Given the description of an element on the screen output the (x, y) to click on. 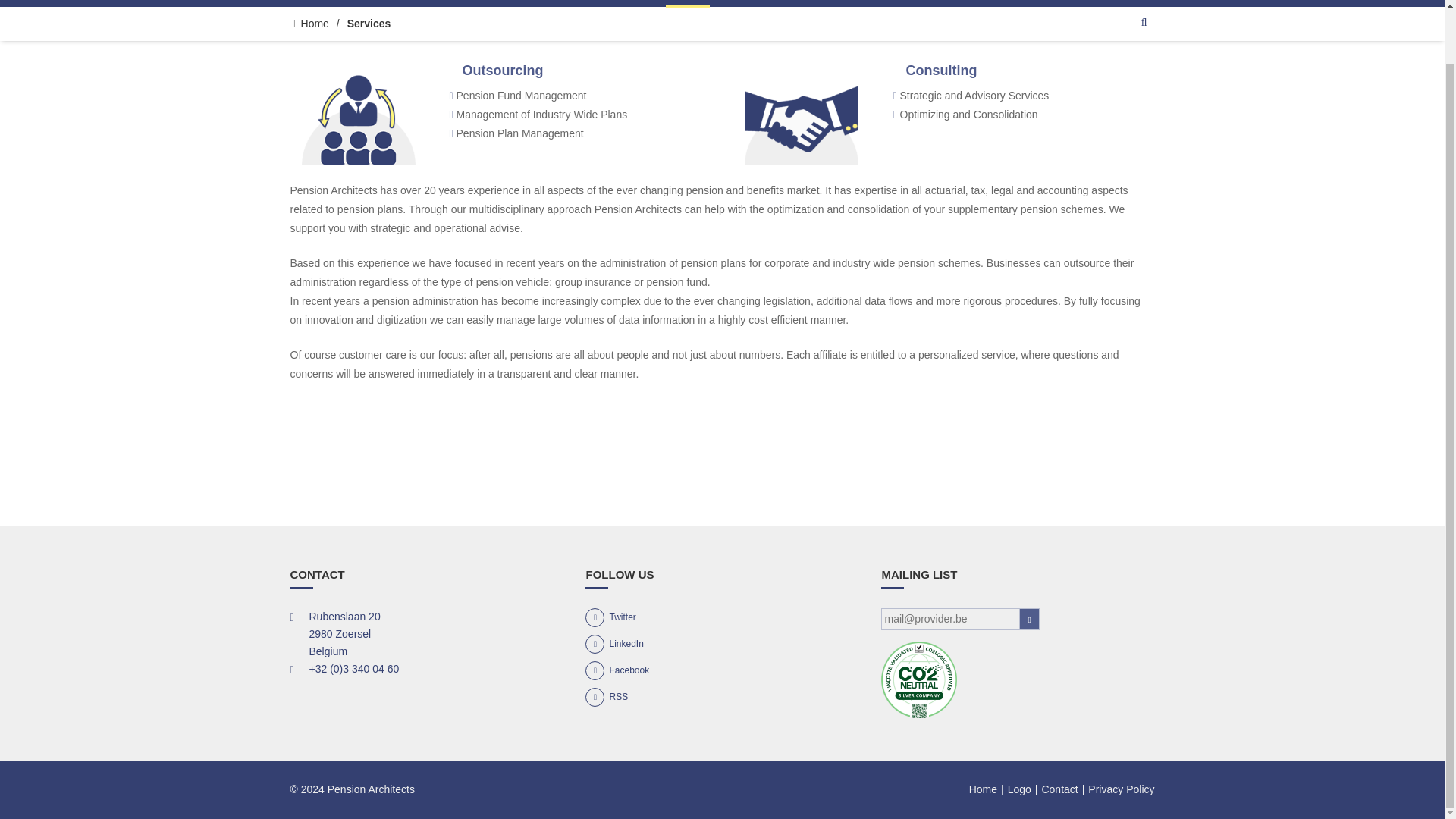
Home (311, 26)
RSS (606, 696)
Facebook (617, 670)
LinkedIn (614, 643)
Services (687, 3)
Privacy Policy (1120, 788)
Logo (1018, 788)
Twitter (609, 616)
Home (983, 788)
Contact (1059, 788)
Home (311, 26)
